Given the description of an element on the screen output the (x, y) to click on. 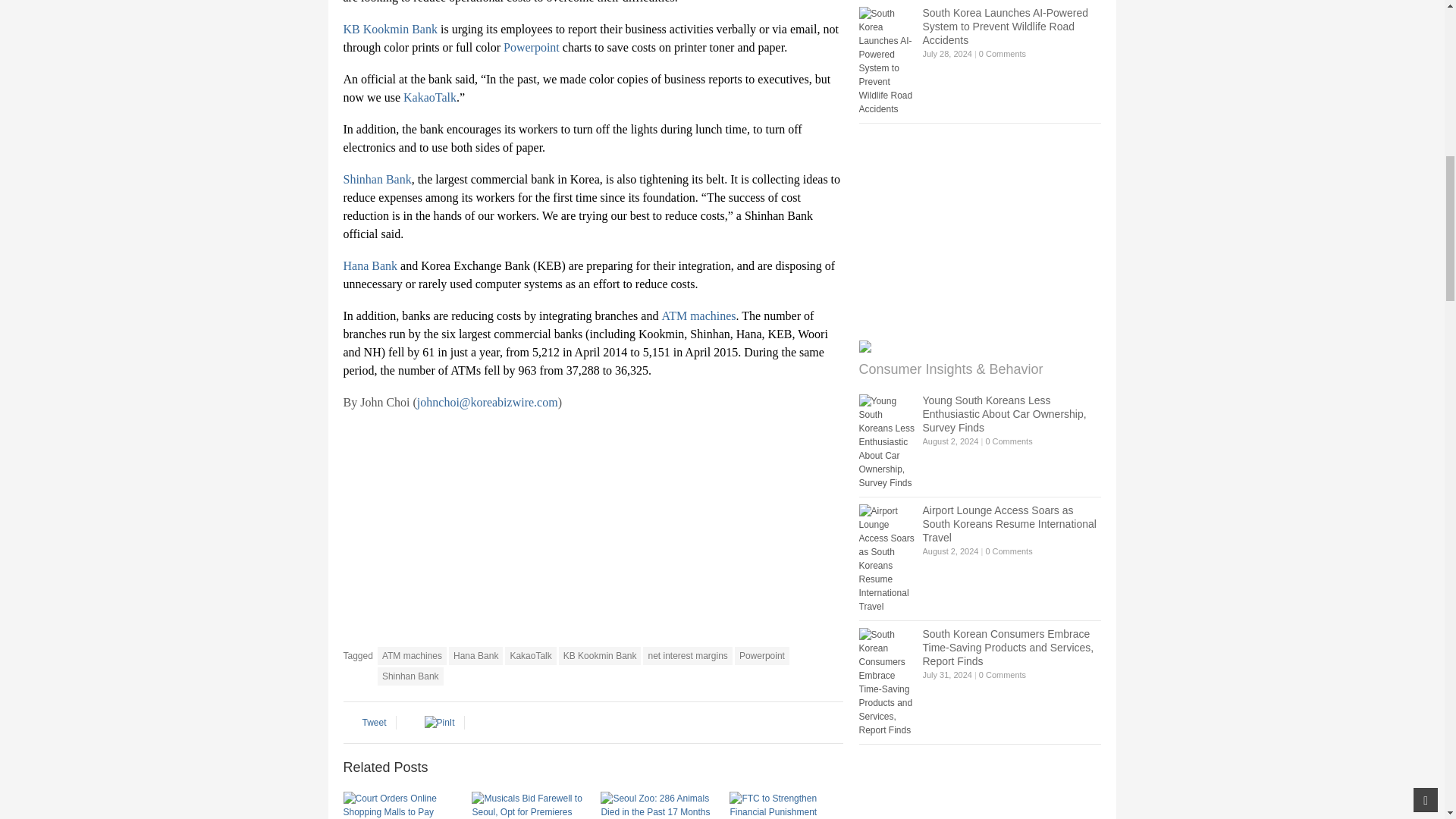
KakaoTalk (430, 97)
KB Kookmin Bank (389, 29)
Powerpoint (531, 47)
